Given the description of an element on the screen output the (x, y) to click on. 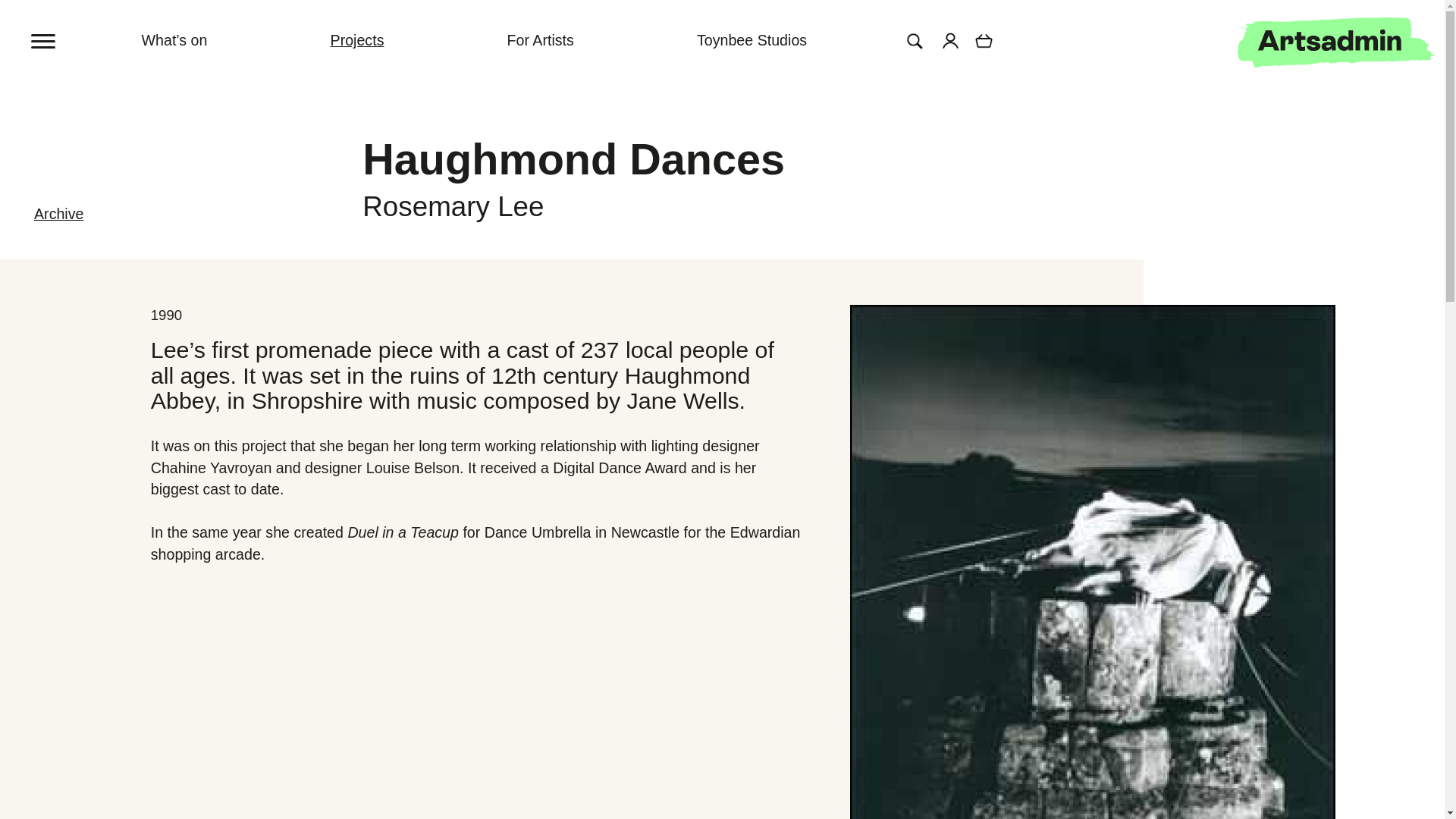
Toggle menu (44, 39)
Toggle menu (61, 30)
